Given the description of an element on the screen output the (x, y) to click on. 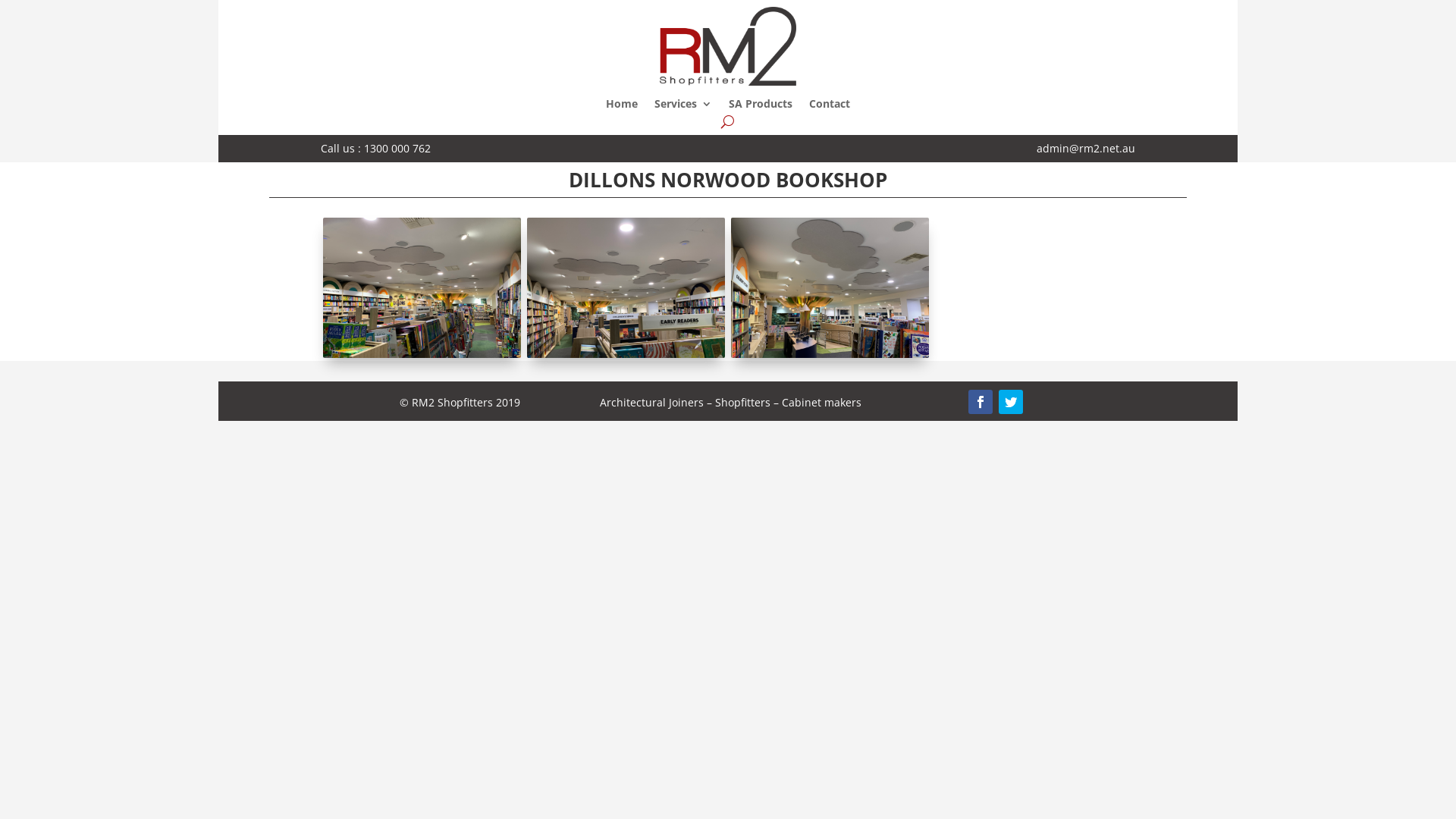
Follow on Twitter Element type: hover (1010, 401)
Services Element type: text (683, 106)
Contact Element type: text (829, 106)
webd3 Element type: hover (829, 357)
SA Products Element type: text (760, 106)
Follow on Facebook Element type: hover (980, 401)
webd1 Element type: hover (421, 357)
Call us : 1300 000 762 Element type: text (375, 148)
webd2 Element type: hover (625, 357)
Home Element type: text (621, 106)
admin@rm2.net.au Element type: text (1085, 148)
